Given the description of an element on the screen output the (x, y) to click on. 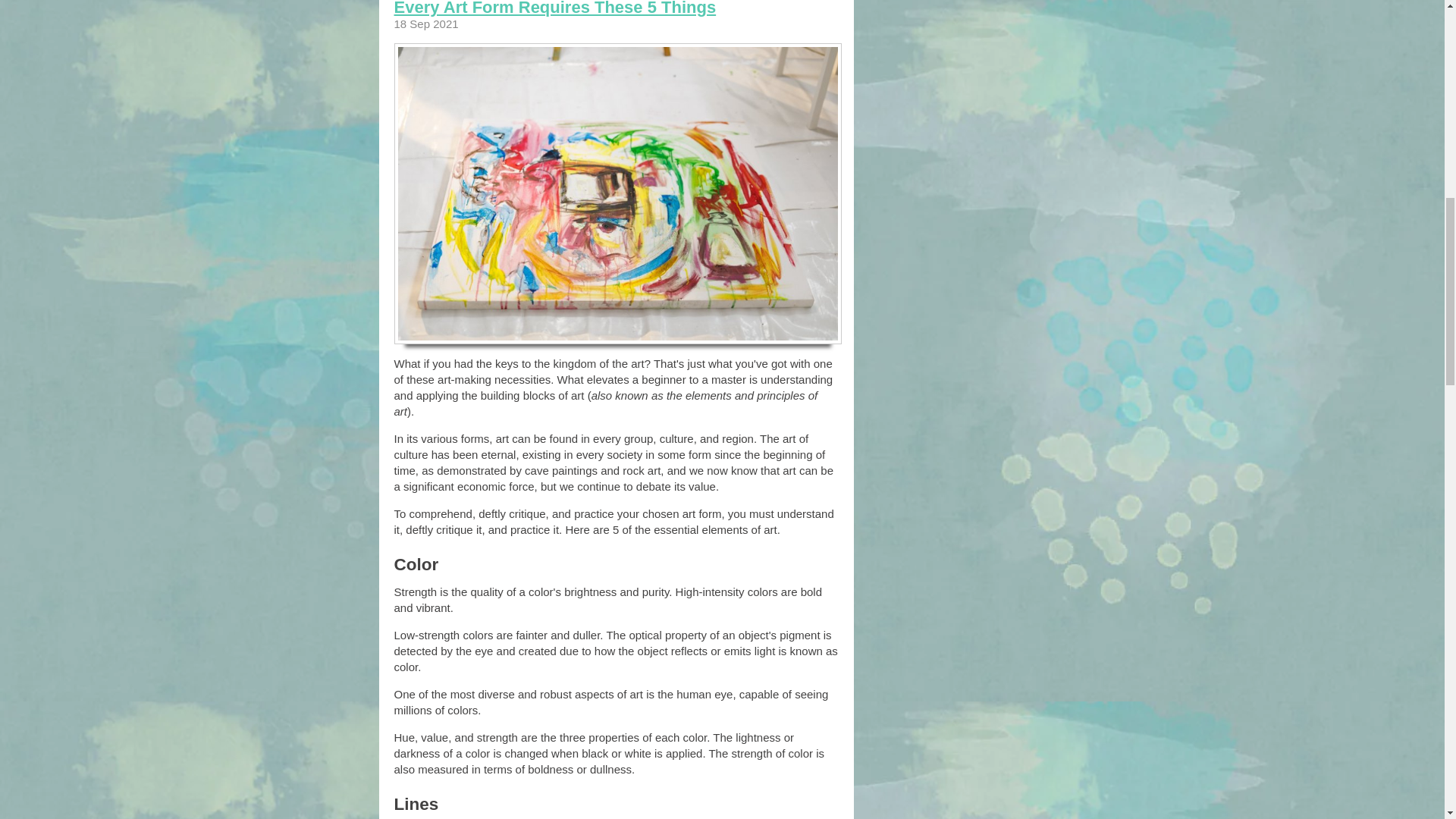
Every Art Form Requires These 5 Things (555, 8)
